Given the description of an element on the screen output the (x, y) to click on. 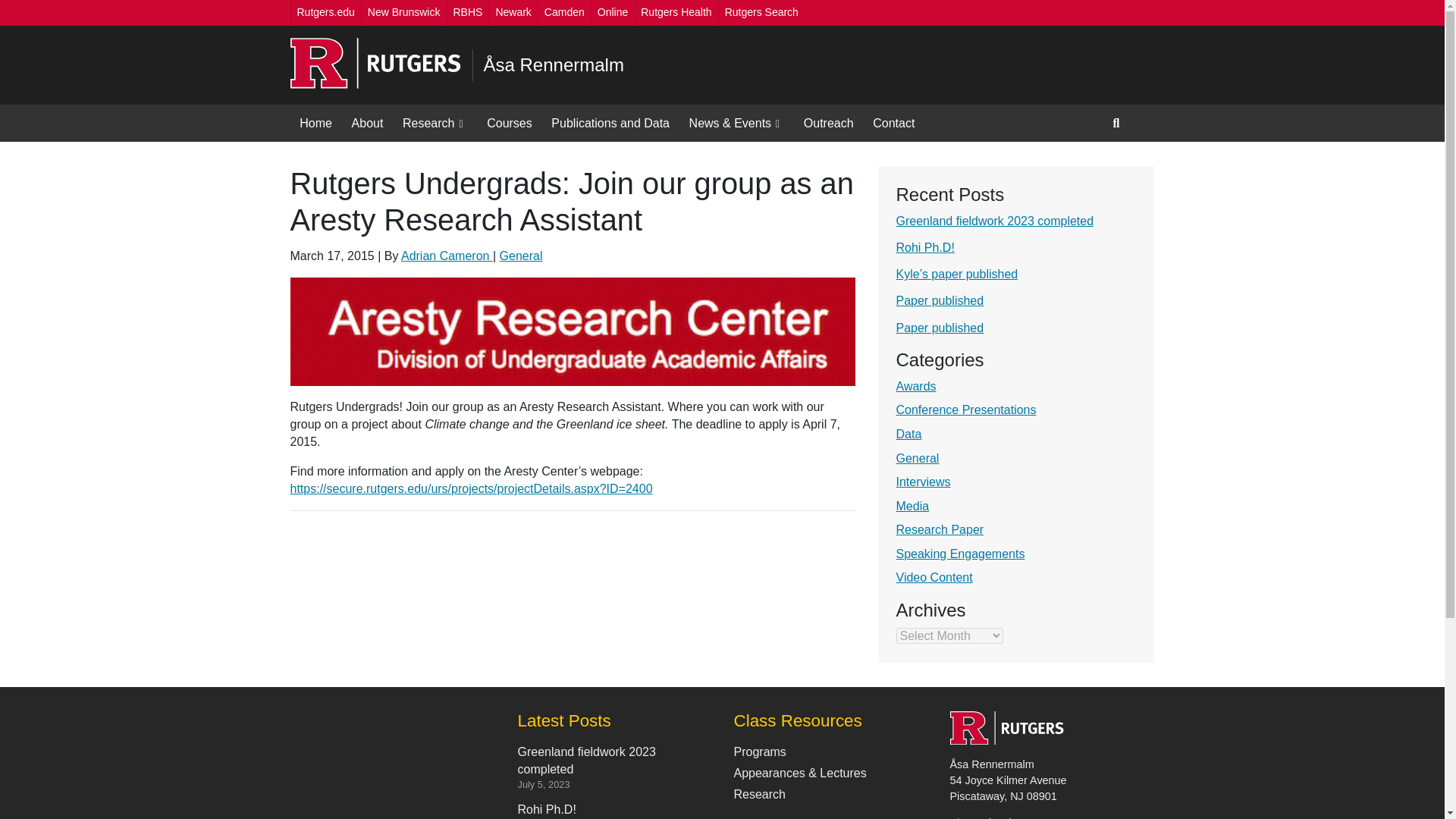
Courses (509, 122)
Rohi Ph.D! (925, 246)
Greenland fieldwork 2023 completed (995, 220)
Research Paper (940, 529)
New Brunswick (403, 12)
Awards (916, 386)
Online (612, 12)
Paper published (940, 300)
Go to Rutgers University homepage (374, 63)
Paper published (940, 327)
